Given the description of an element on the screen output the (x, y) to click on. 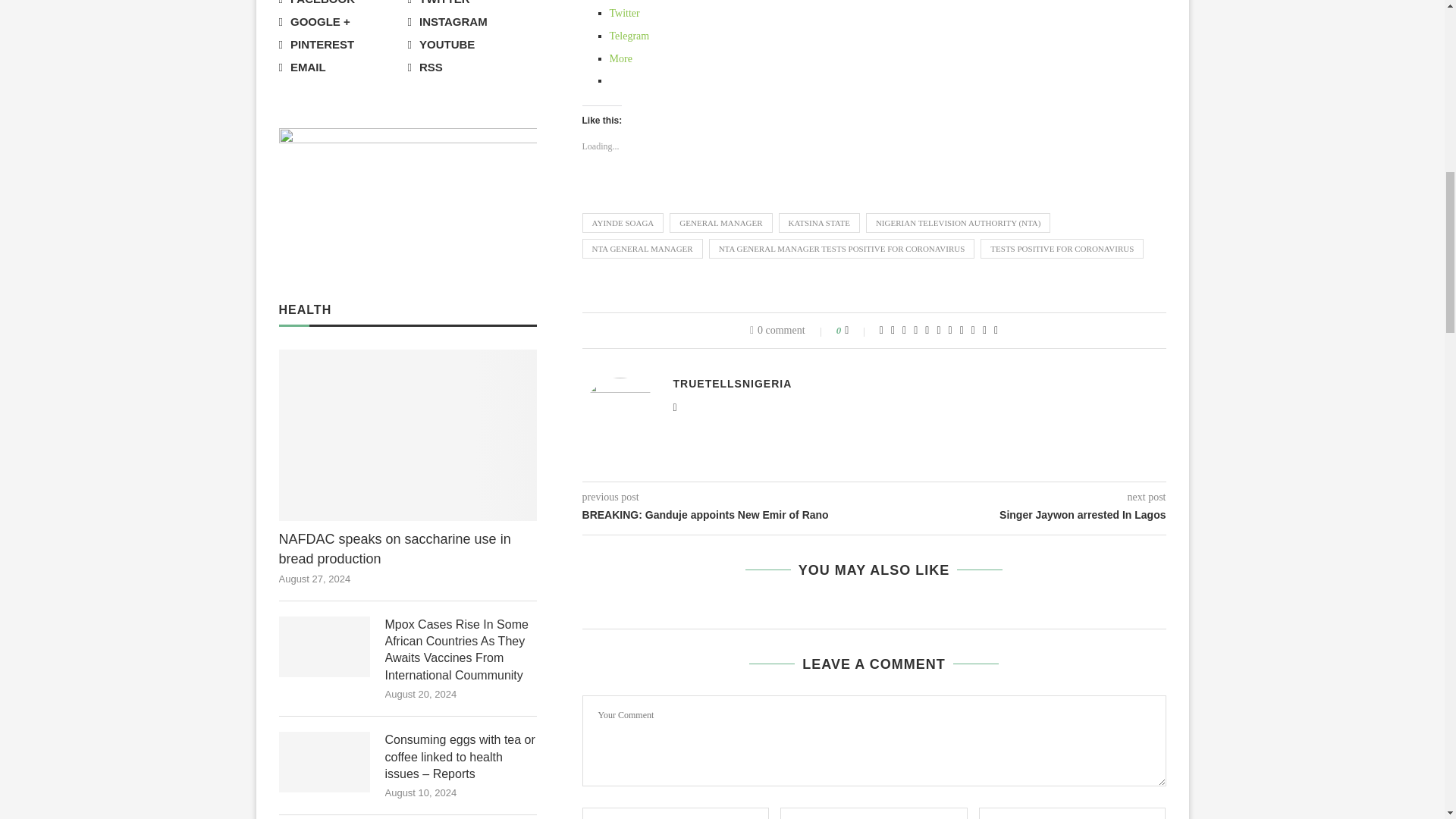
Twitter (625, 12)
Telegram (629, 35)
Click to share on Telegram (629, 35)
More (620, 58)
Click to share on Twitter (625, 12)
